Given the description of an element on the screen output the (x, y) to click on. 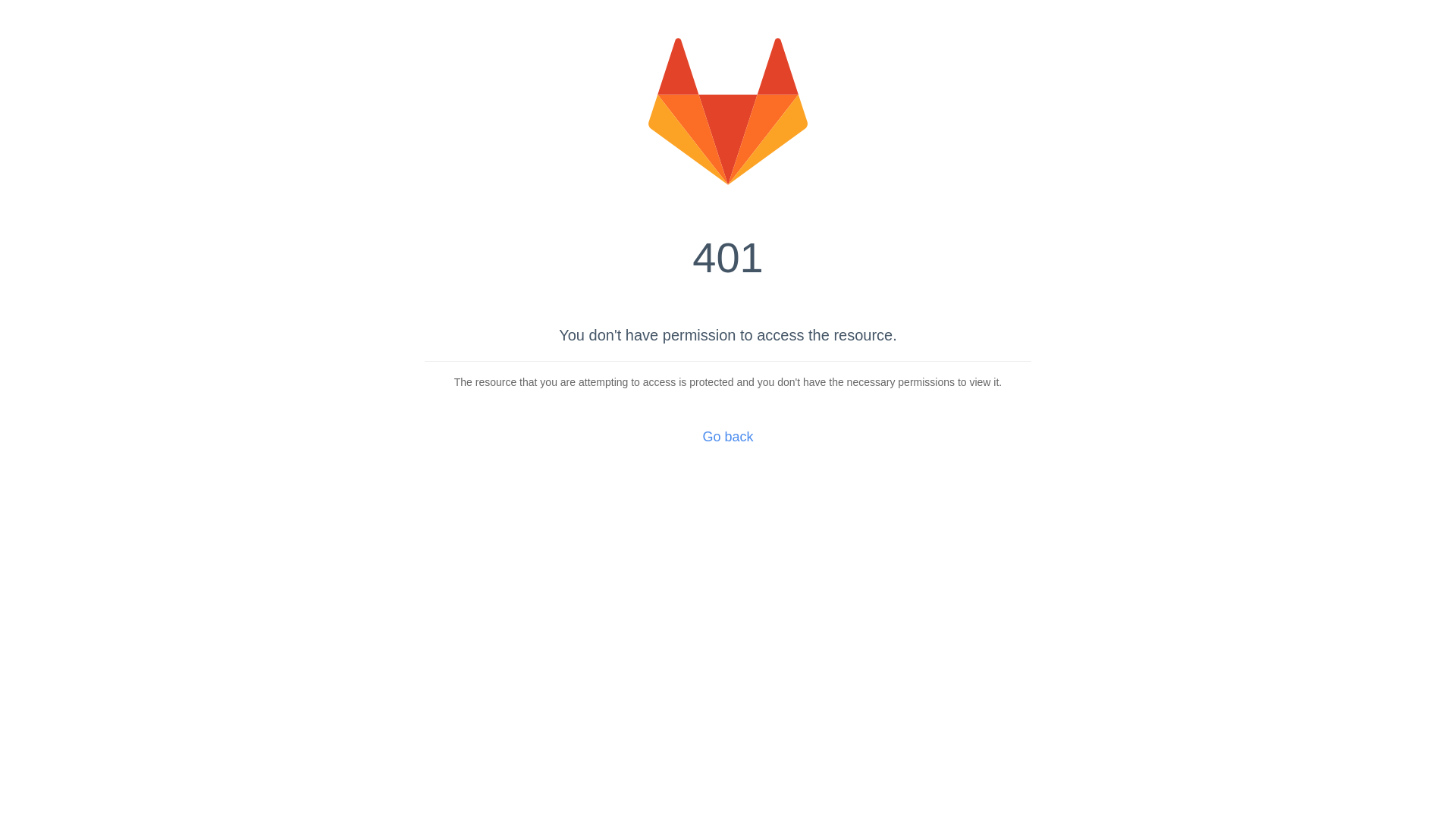
Go back Element type: text (727, 436)
